Given the description of an element on the screen output the (x, y) to click on. 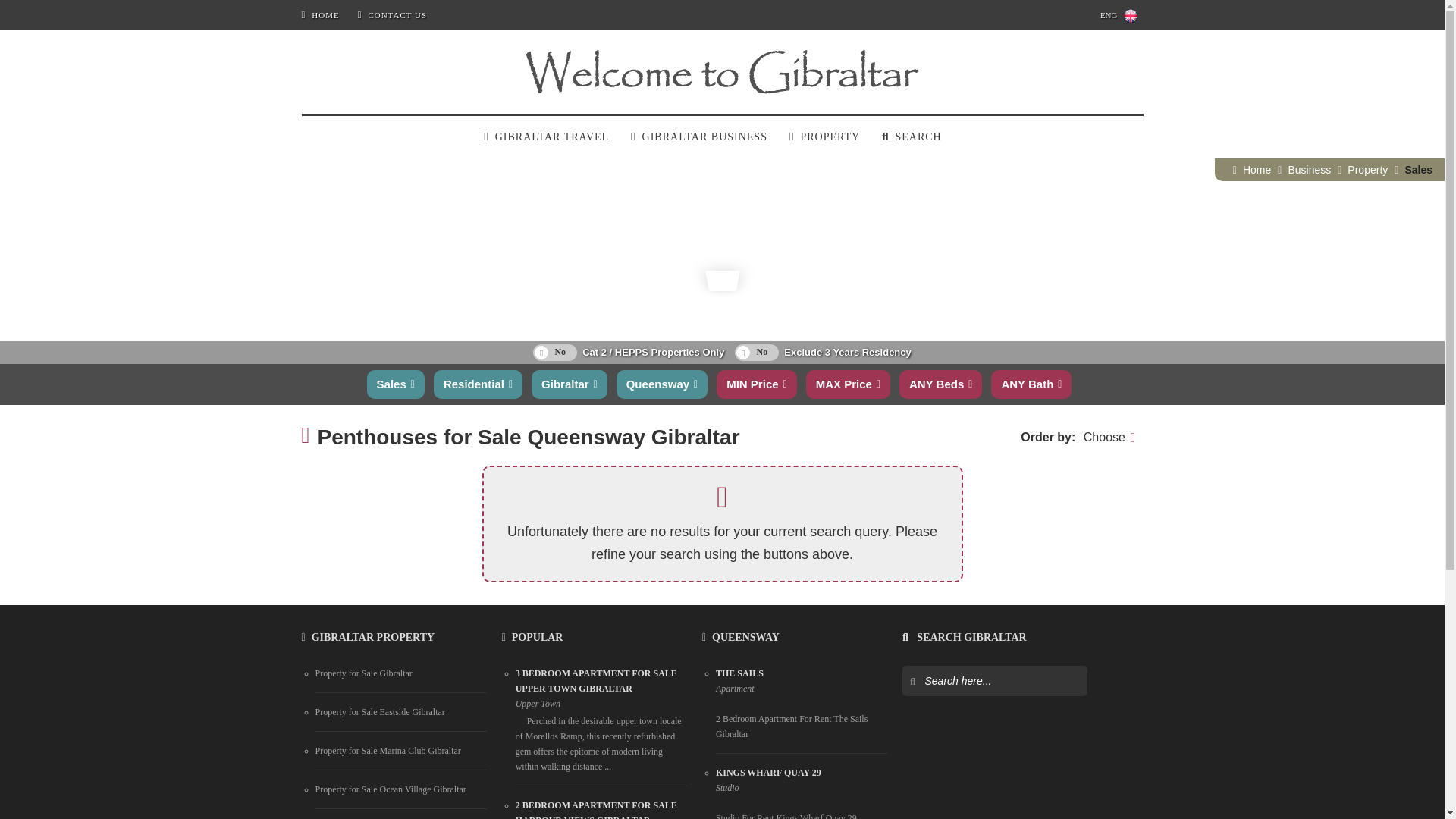
CONTACT US (392, 14)
ENG (1116, 15)
Search here... (1000, 680)
PROPERTY (824, 136)
HOME (320, 14)
